Given the description of an element on the screen output the (x, y) to click on. 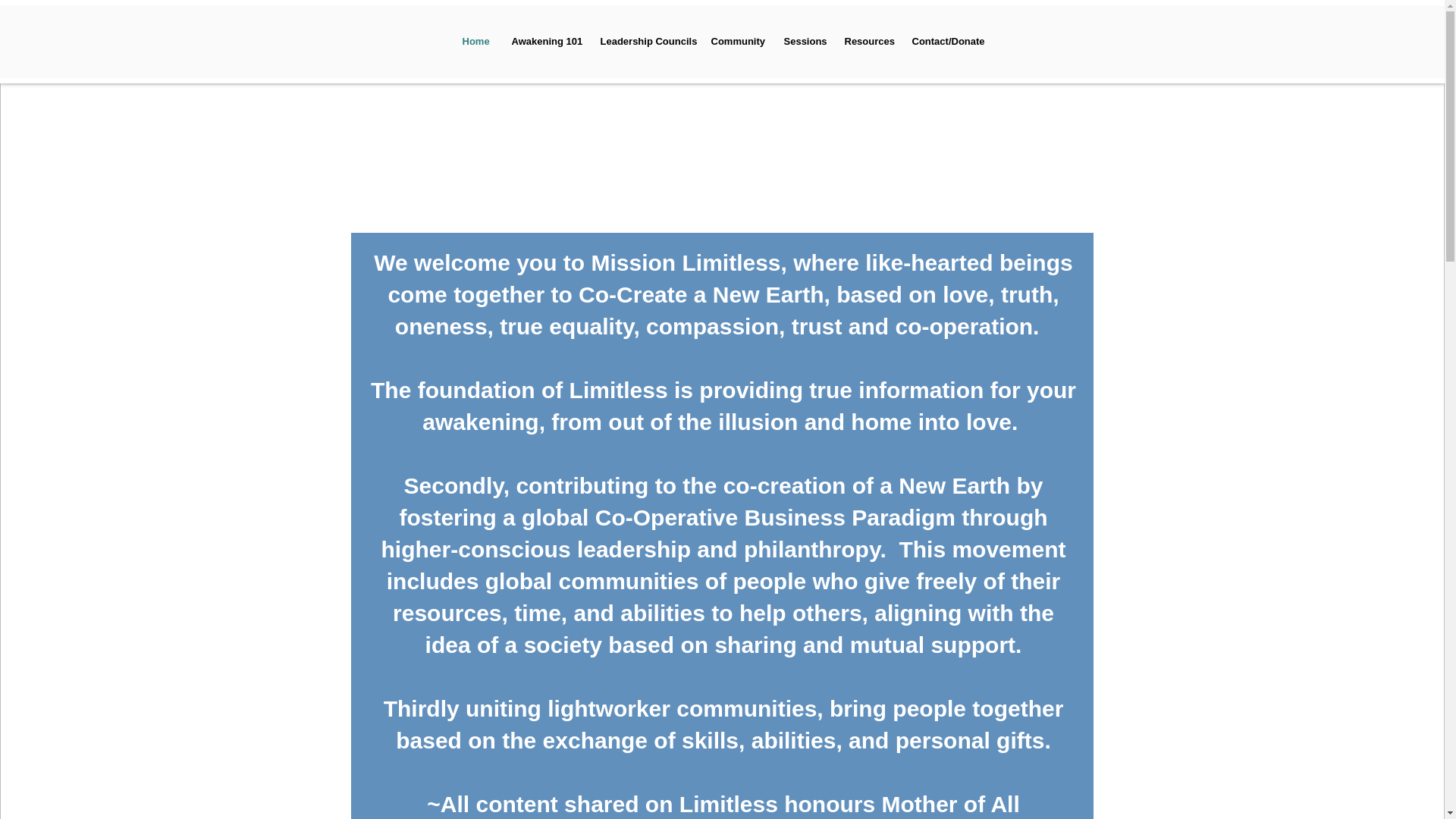
Leadership Councils (643, 41)
Home (474, 41)
Awakening 101 (544, 41)
Community (734, 41)
Sessions (801, 41)
